Given the description of an element on the screen output the (x, y) to click on. 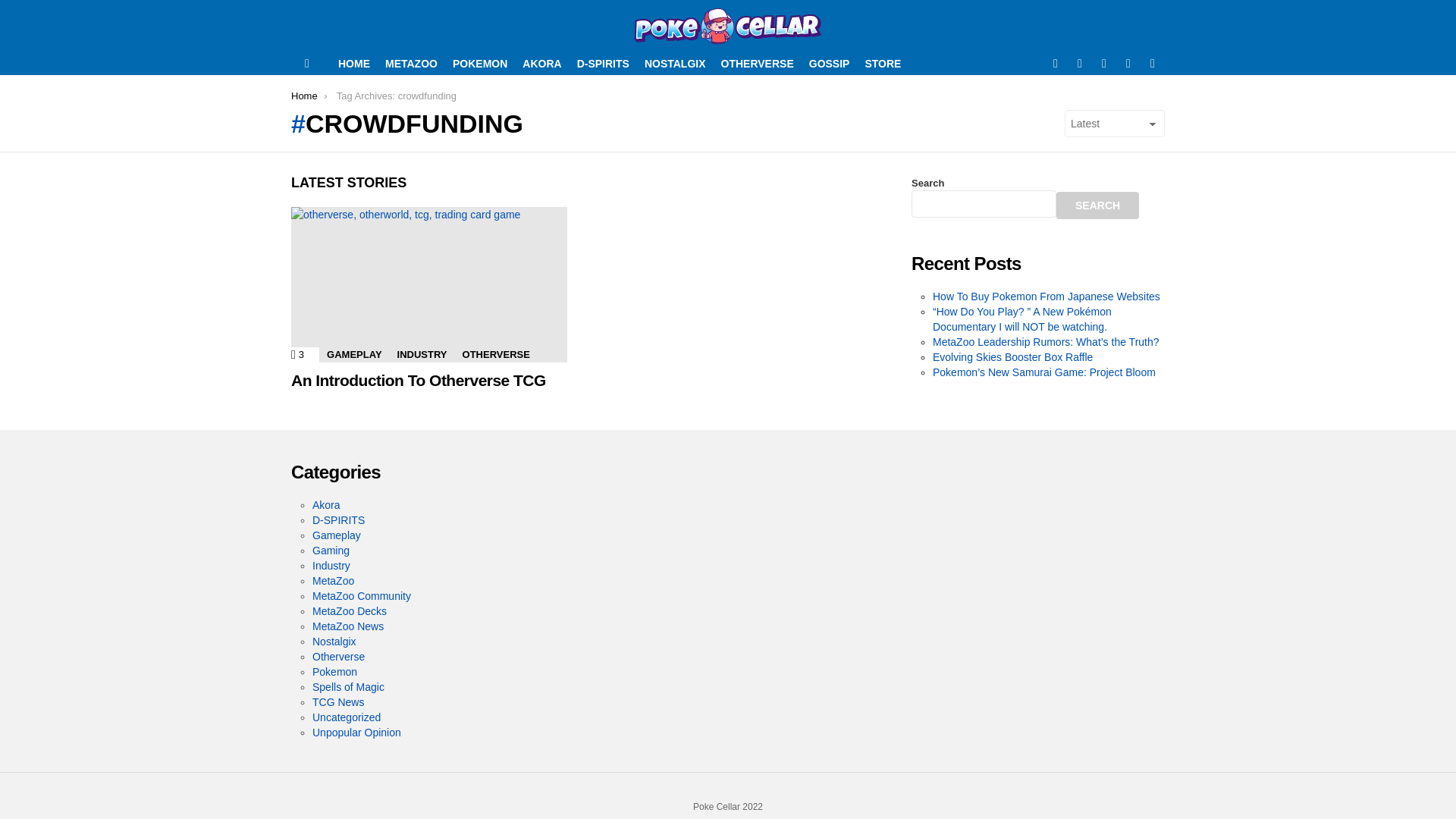
Twitter (1079, 63)
Menu (306, 63)
GOSSIP (829, 63)
An Introduction To Otherverse TCG (429, 284)
SEARCH (1097, 205)
METAZOO (411, 63)
An Introduction To Otherverse TCG (418, 380)
STORE (882, 63)
D-SPIRITS (297, 354)
How To Buy Pokemon From Japanese Websites (603, 63)
POKEMON (1046, 296)
Akora (480, 63)
D-SPIRITS (326, 504)
Home (339, 520)
